Given the description of an element on the screen output the (x, y) to click on. 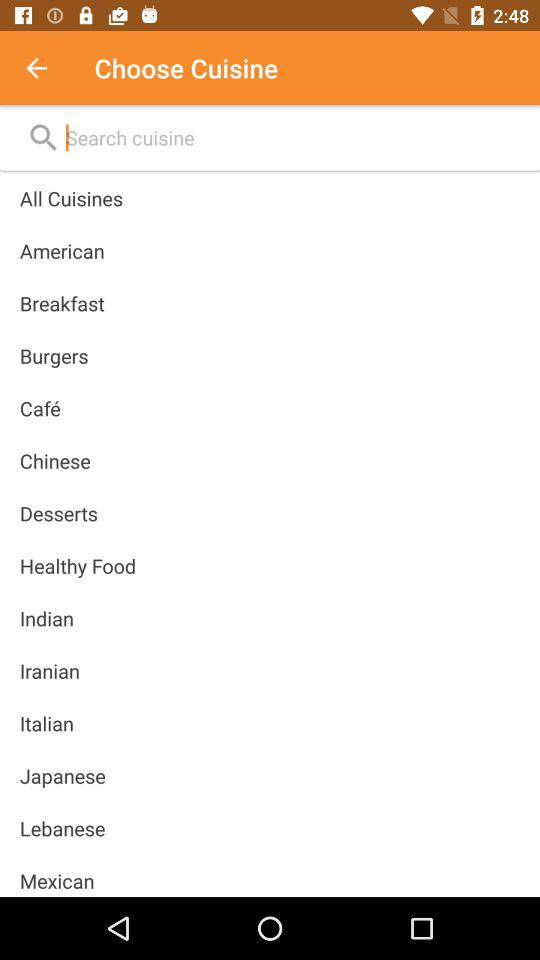
press the item below the iranian item (46, 723)
